Given the description of an element on the screen output the (x, y) to click on. 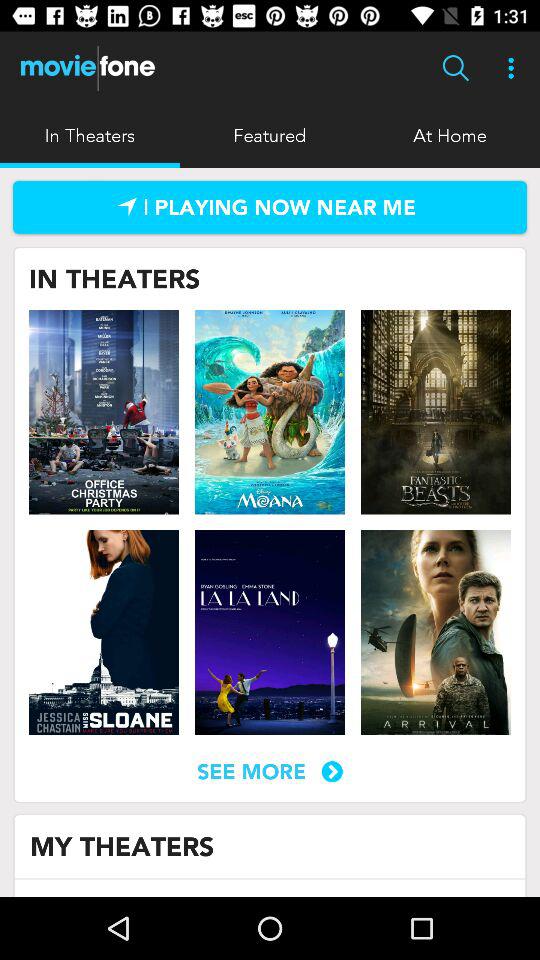
movie listed (435, 411)
